Given the description of an element on the screen output the (x, y) to click on. 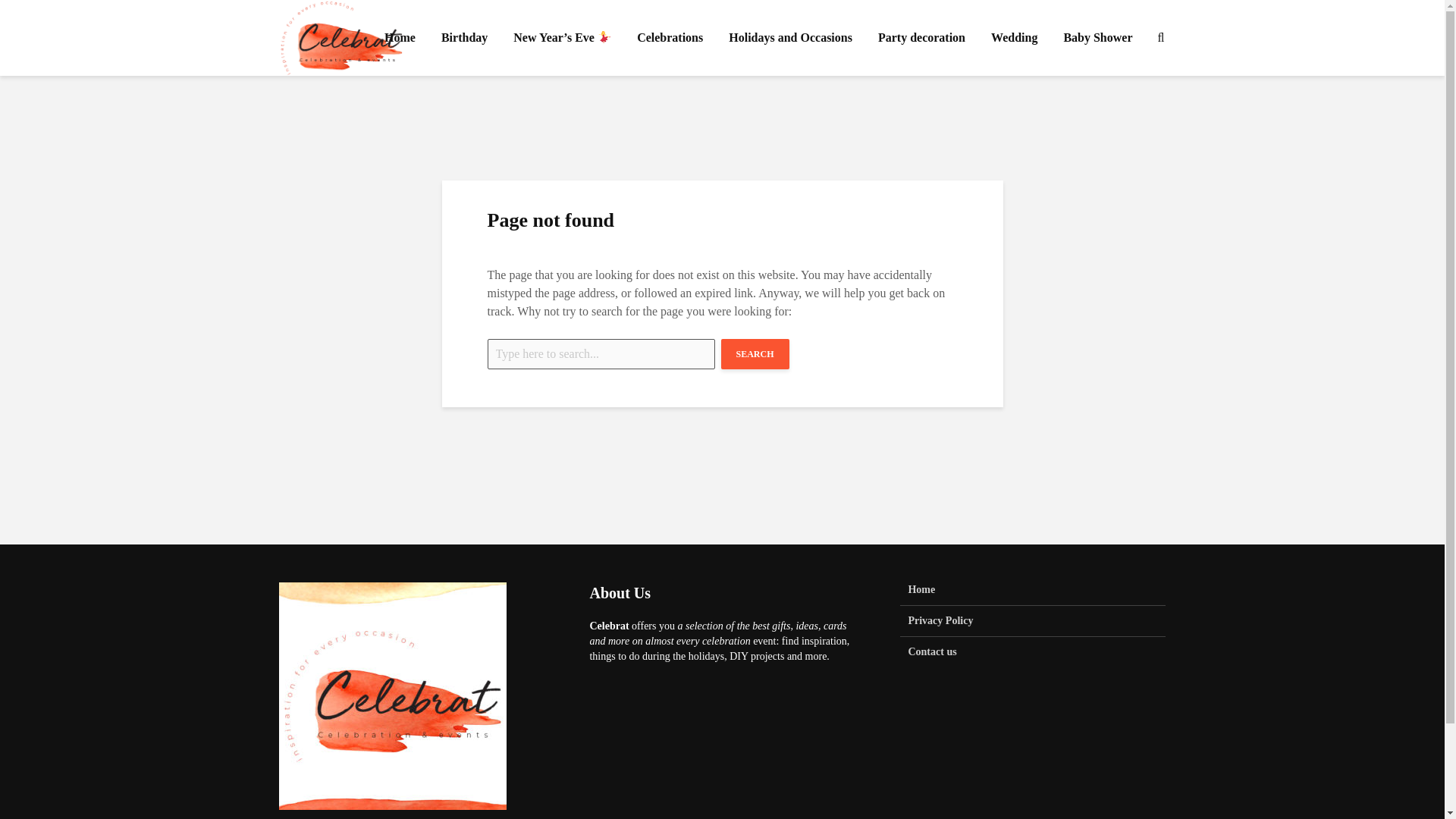
Birthday (464, 37)
Privacy Policy (1032, 621)
Home (1032, 594)
Contact us (1032, 652)
SEARCH (754, 354)
Wedding (1013, 37)
Party decoration (921, 37)
Celebrations (670, 37)
Home (399, 37)
Baby Shower (1096, 37)
Holidays and Occasions (790, 37)
